Given the description of an element on the screen output the (x, y) to click on. 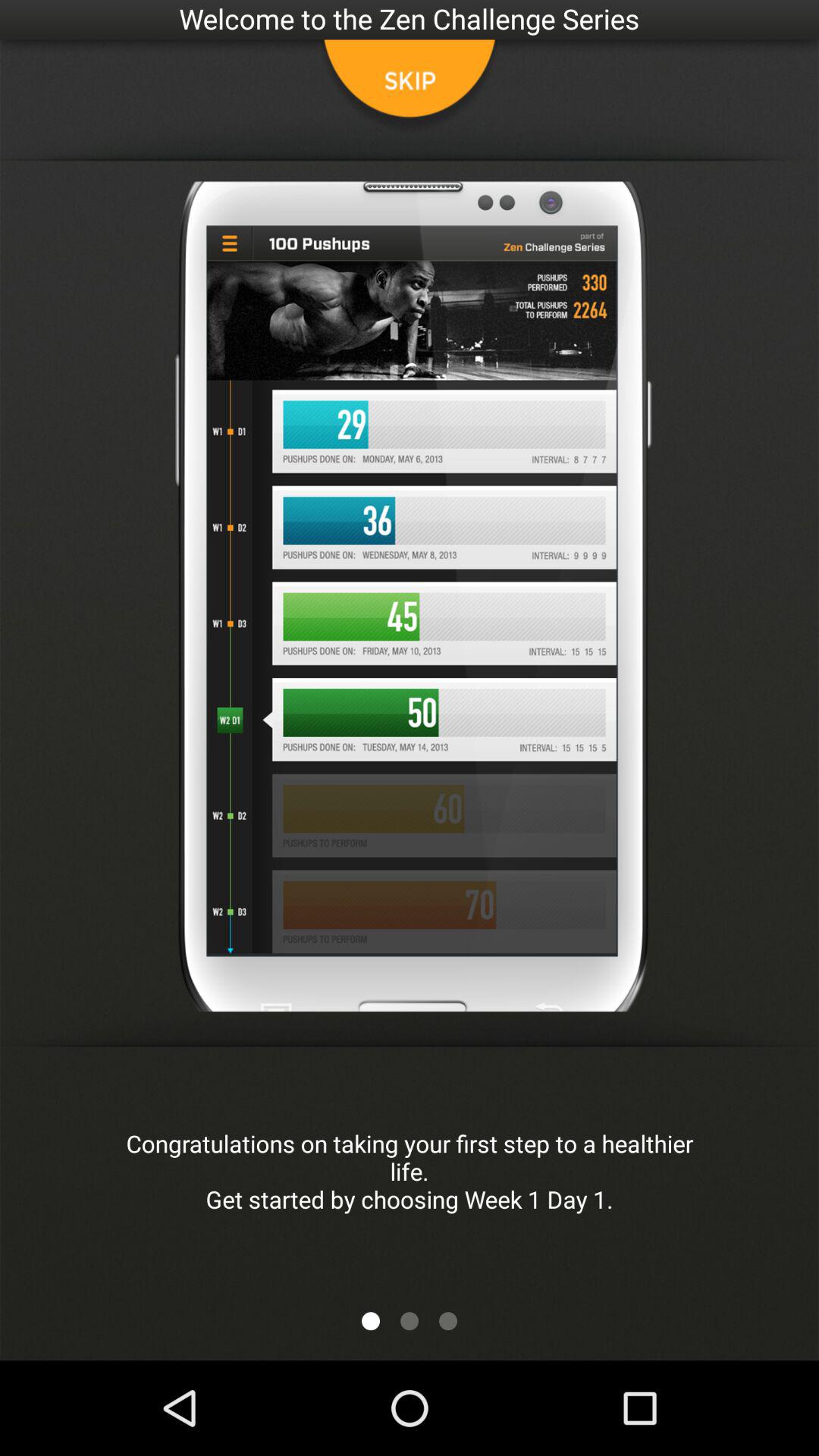
second slide/image (409, 1321)
